Given the description of an element on the screen output the (x, y) to click on. 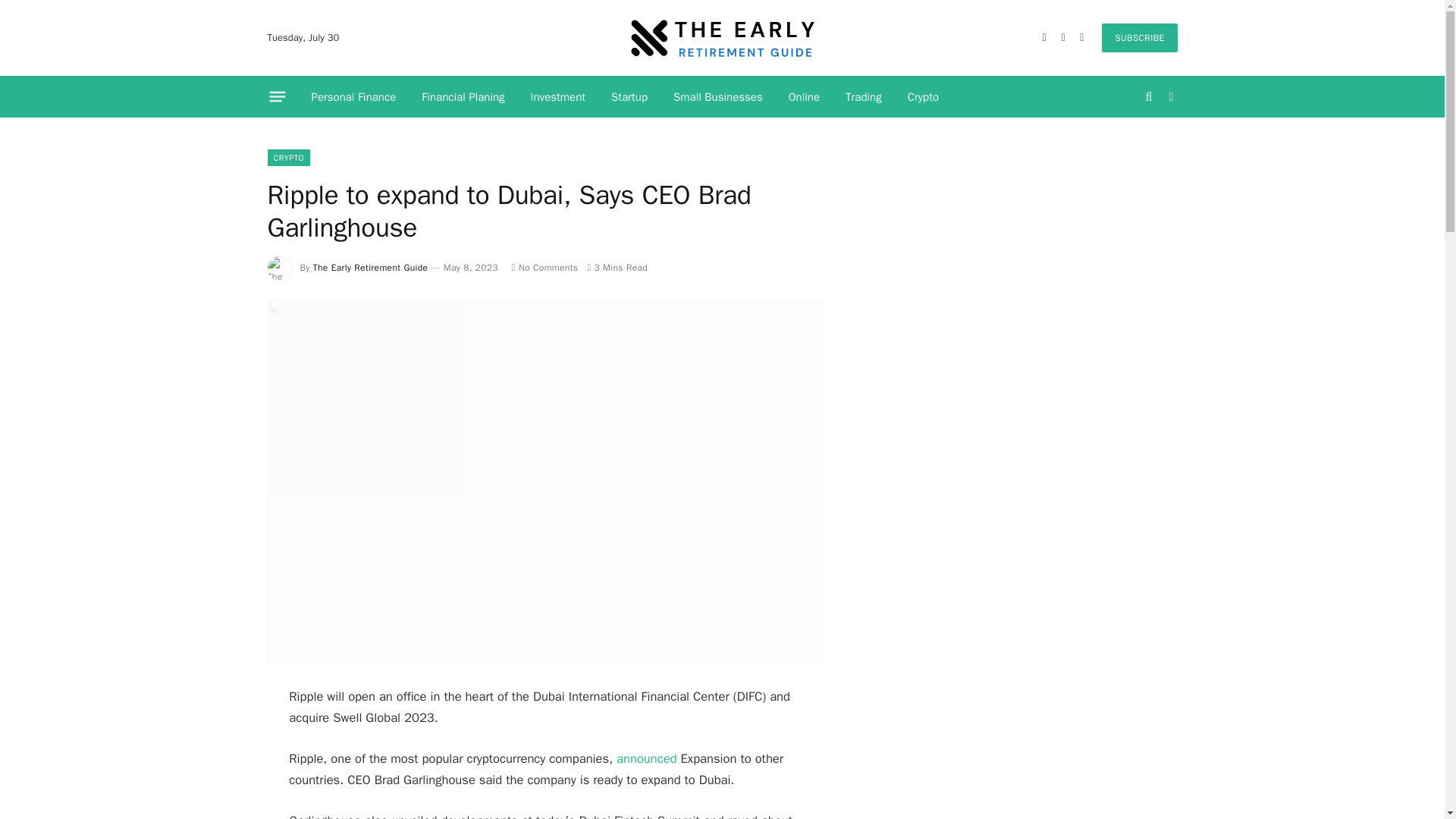
Startup (629, 96)
The Early Retirement Guide (370, 267)
SUBSCRIBE (1139, 37)
Switch to Dark Design - easier on eyes. (1169, 96)
The Early Retirement Guide (721, 38)
No Comments (545, 267)
Online (804, 96)
Investment (558, 96)
announced (646, 758)
Small Businesses (718, 96)
CRYPTO (288, 157)
Financial Planing (462, 96)
Crypto (923, 96)
Personal Finance (353, 96)
